Given the description of an element on the screen output the (x, y) to click on. 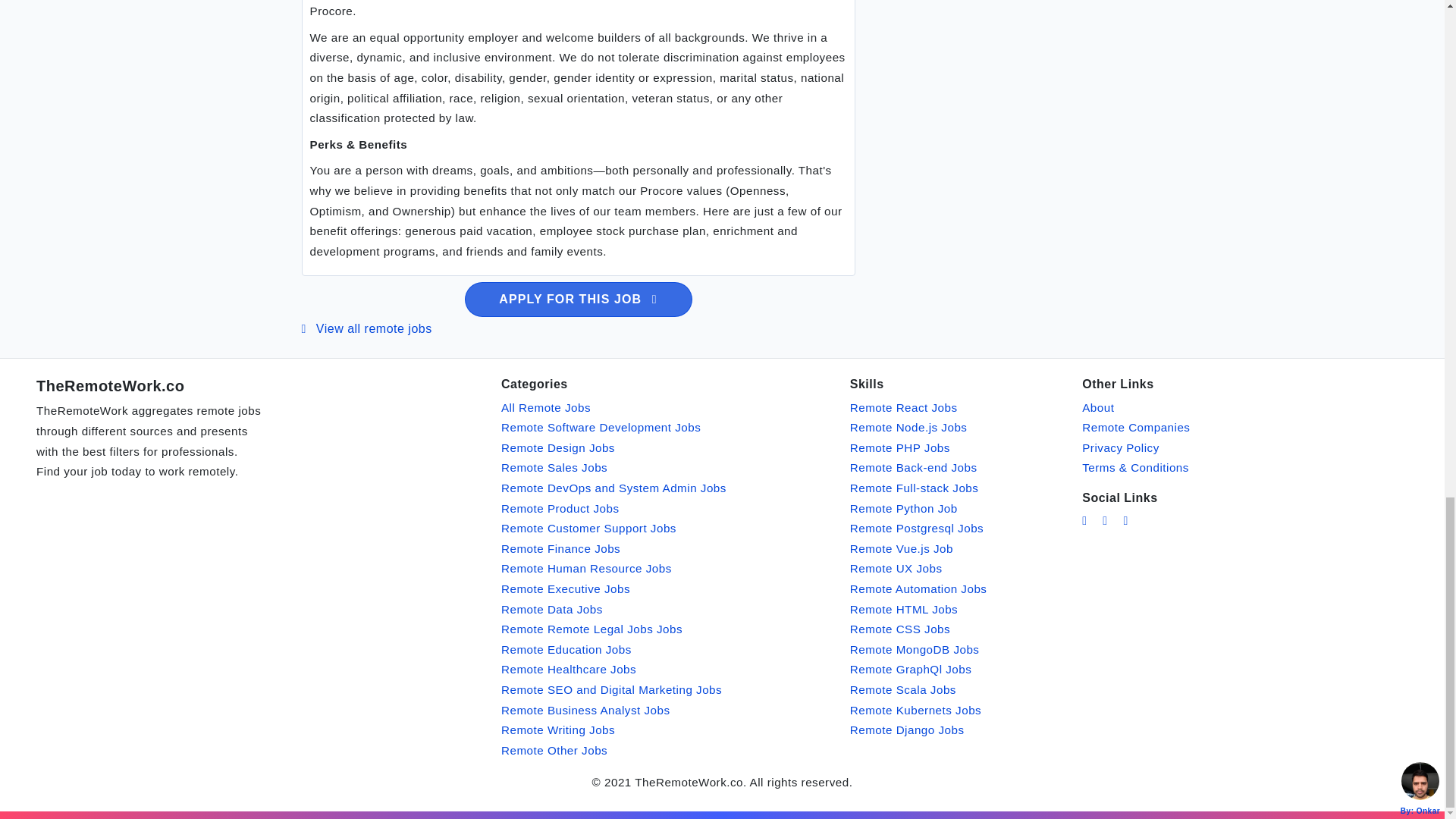
Click to apply for the remote job (577, 298)
View all remote jobs (366, 328)
Remote Design Jobs (557, 447)
Remote Sales Jobs (553, 467)
Remote Software Development Jobs (600, 427)
All Remote Jobs (545, 407)
APPLY FOR THIS JOB (577, 298)
